Given the description of an element on the screen output the (x, y) to click on. 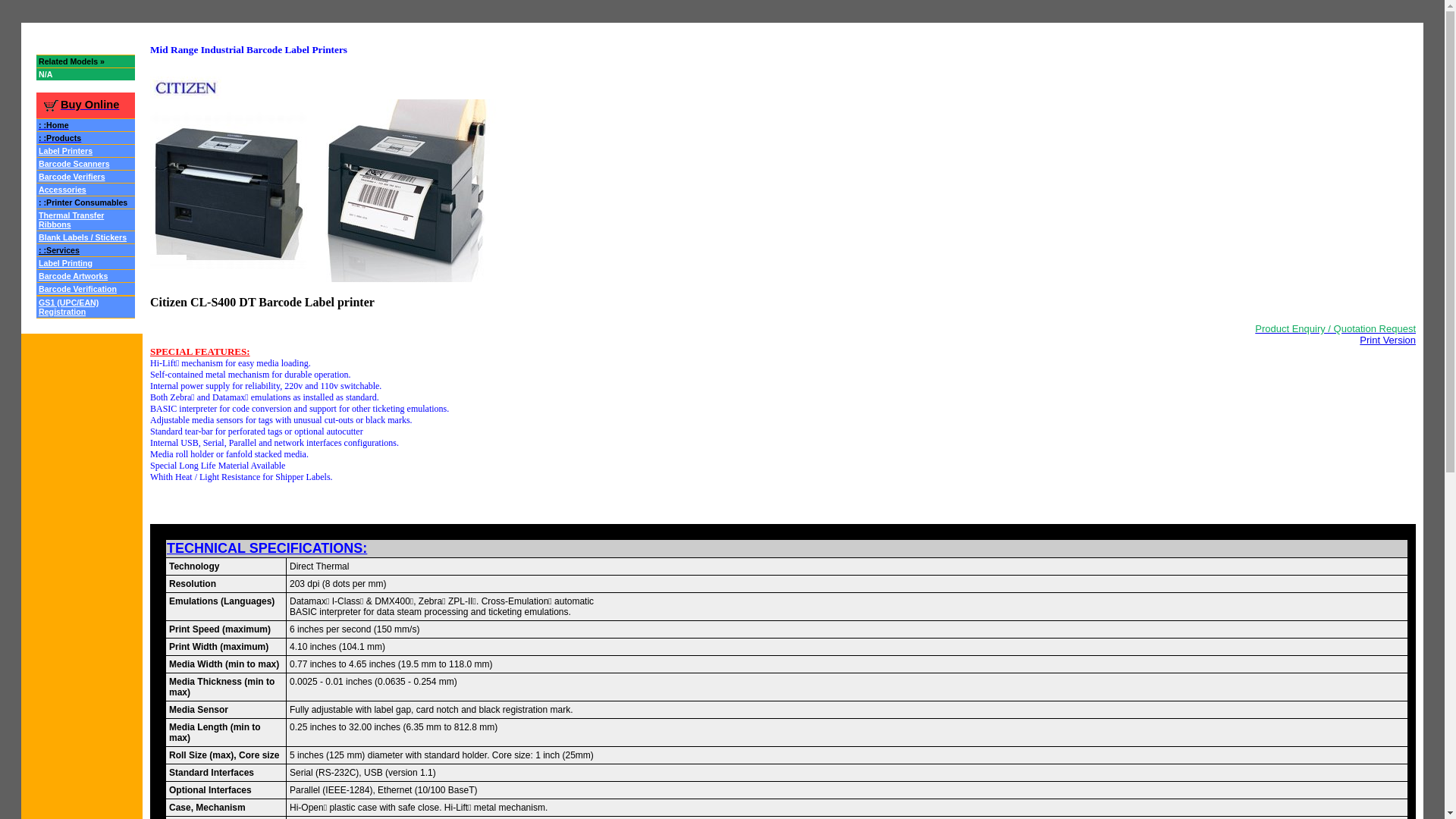
Print Version Element type: text (1387, 338)
Buy Online Element type: text (79, 103)
Label Printing Element type: text (65, 261)
Barcode Artworks Element type: text (72, 274)
Blank Labels / Stickers Element type: text (82, 235)
Barcode Verifiers Element type: text (71, 175)
: :Products Element type: text (59, 136)
Label Printers Element type: text (65, 149)
Thermal Transfer Ribbons Element type: text (70, 218)
: :Services Element type: text (58, 249)
Barcode Scanners Element type: text (73, 162)
Accessories Element type: text (62, 188)
: :Home Element type: text (53, 123)
GS1 (UPC/EAN) Registration Element type: text (68, 305)
Barcode Verification Element type: text (77, 287)
Product Enquiry / Quotation Request Element type: text (1335, 327)
